Given the description of an element on the screen output the (x, y) to click on. 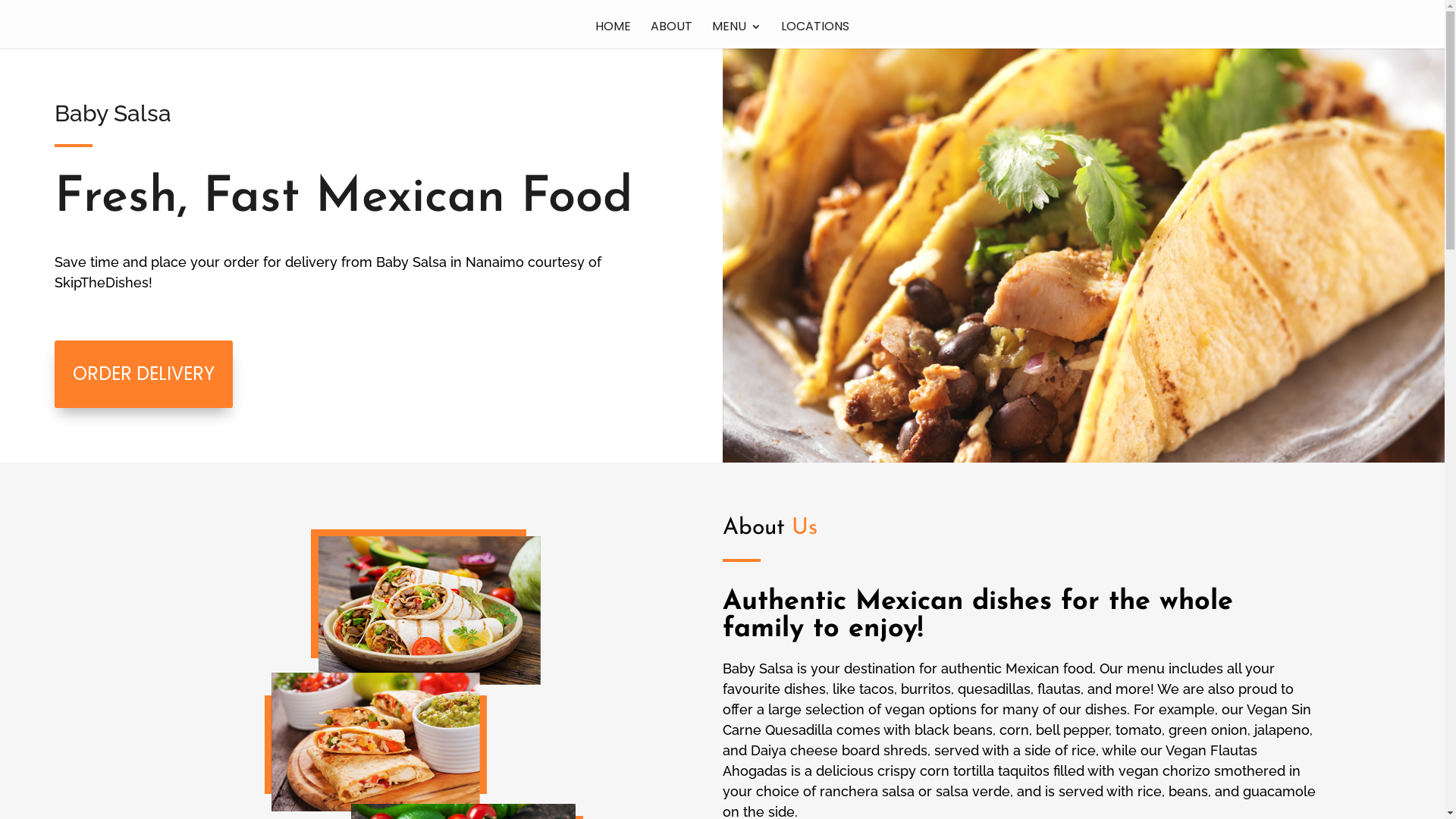
MENU Element type: text (736, 34)
ABOUT Element type: text (671, 34)
LOCATIONS Element type: text (815, 34)
HOME Element type: text (612, 34)
ORDER DELIVERY Element type: text (143, 373)
